Given the description of an element on the screen output the (x, y) to click on. 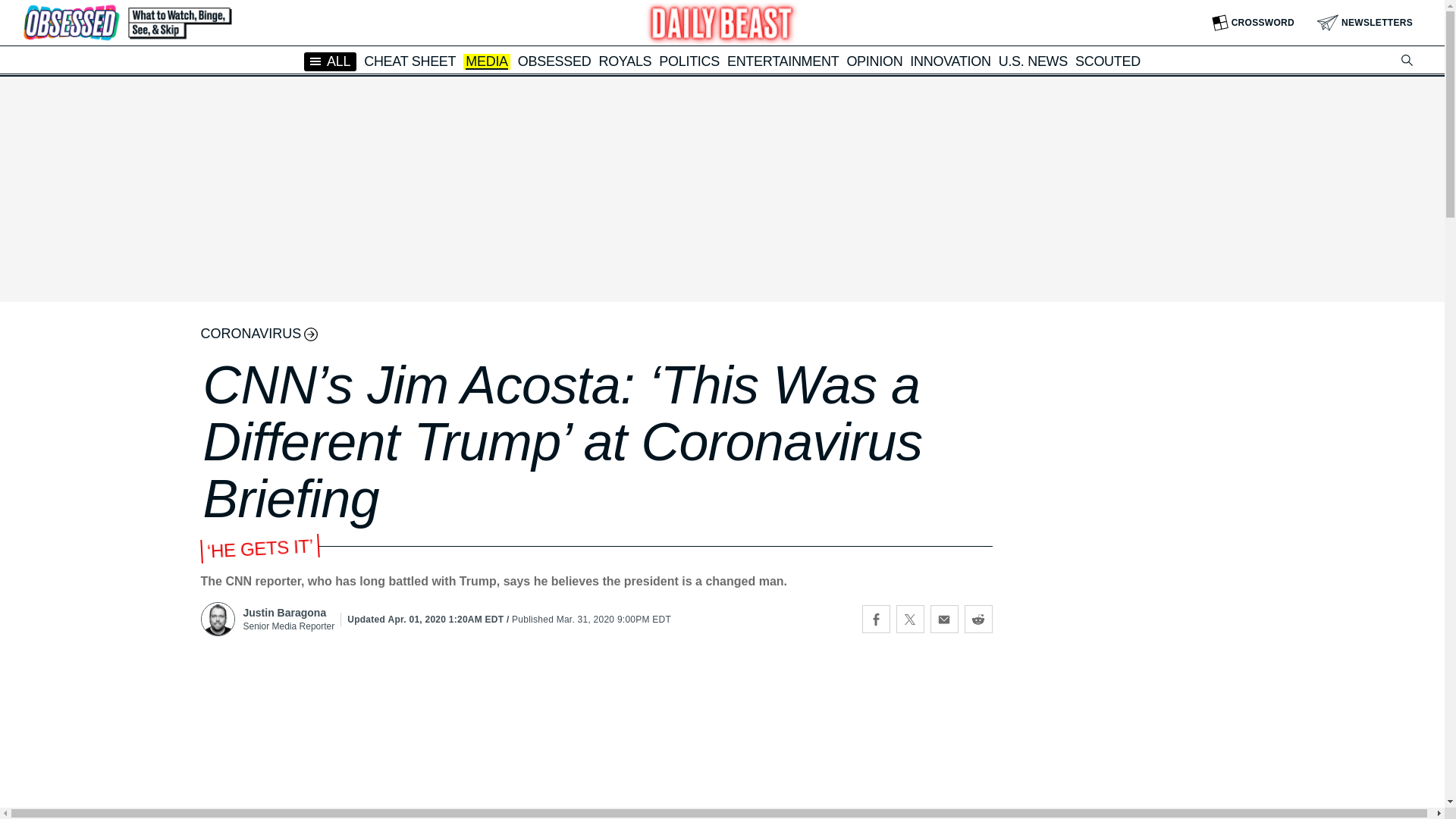
SCOUTED (1107, 60)
ALL (330, 60)
U.S. NEWS (1032, 60)
POLITICS (689, 60)
ENTERTAINMENT (782, 60)
NEWSLETTERS (1364, 22)
OPINION (873, 60)
CHEAT SHEET (409, 60)
INNOVATION (950, 60)
ROYALS (624, 60)
